Given the description of an element on the screen output the (x, y) to click on. 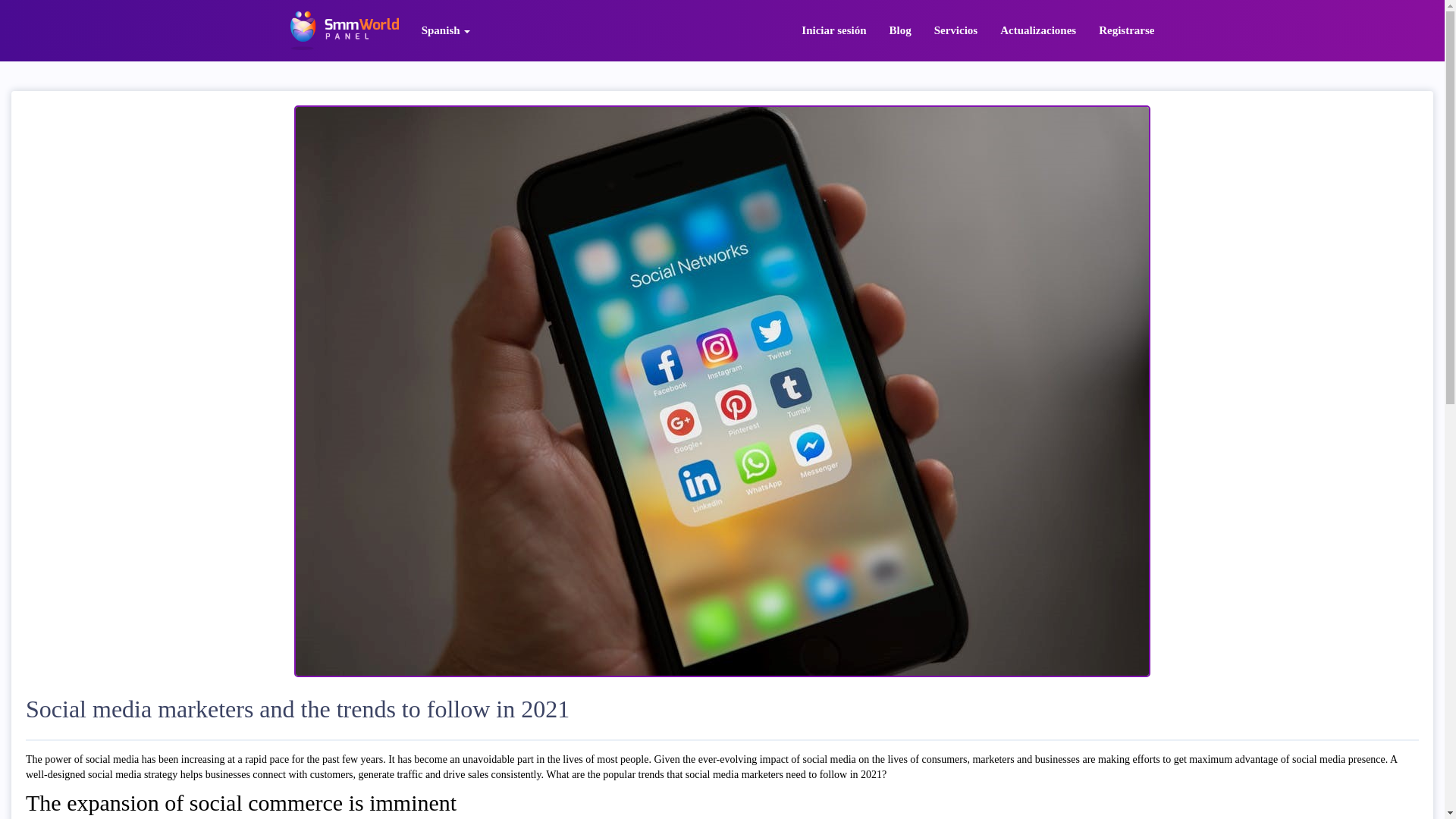
Blog (900, 30)
Spanish (445, 30)
Servicios (956, 30)
Registrarse (1126, 30)
Actualizaciones (1037, 30)
